Given the description of an element on the screen output the (x, y) to click on. 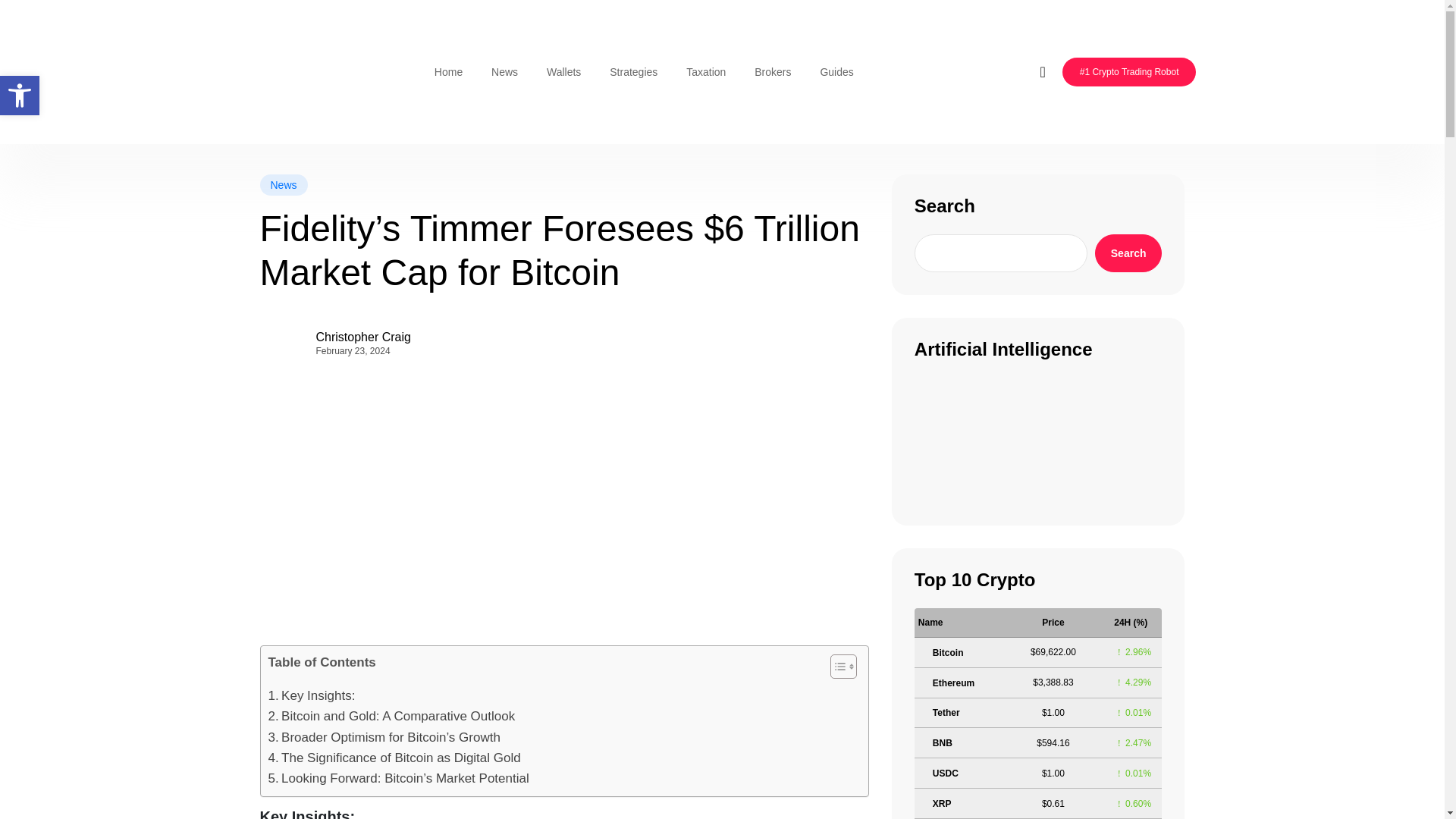
Guides (836, 71)
The Significance of Bitcoin as Digital Gold (394, 757)
News (283, 184)
Search (1127, 252)
Brokers (772, 71)
News (505, 71)
Strategies (632, 71)
Bitcoin and Gold: A Comparative Outlook (391, 715)
Key Insights: (311, 695)
Accessibility Tools (19, 95)
Key Insights: (311, 695)
The Significance of Bitcoin as Digital Gold (394, 757)
Wallets (564, 71)
Bitcoin and Gold: A Comparative Outlook (391, 715)
Accessibility Tools (19, 95)
